Given the description of an element on the screen output the (x, y) to click on. 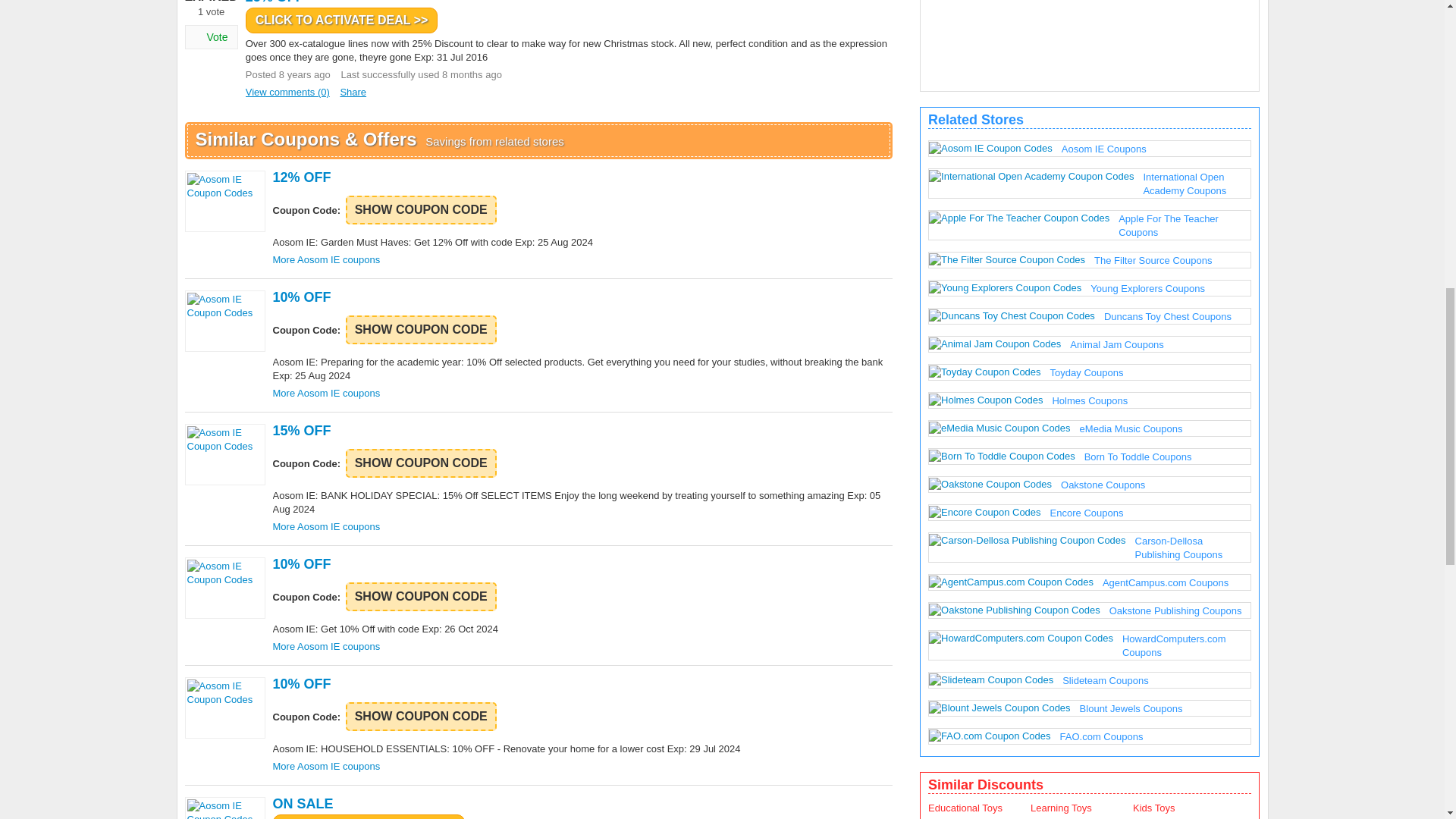
SHOW COUPON CODE (421, 209)
Aosom IE Coupon Codes (224, 588)
Aosom IE Coupon Codes (224, 707)
ON SALE (580, 803)
More Aosom IE coupons (326, 645)
More Aosom IE coupons (326, 766)
Click To Activate Coupon (421, 462)
Click to activate coupon (580, 430)
SHOW COUPON CODE (421, 716)
